Given the description of an element on the screen output the (x, y) to click on. 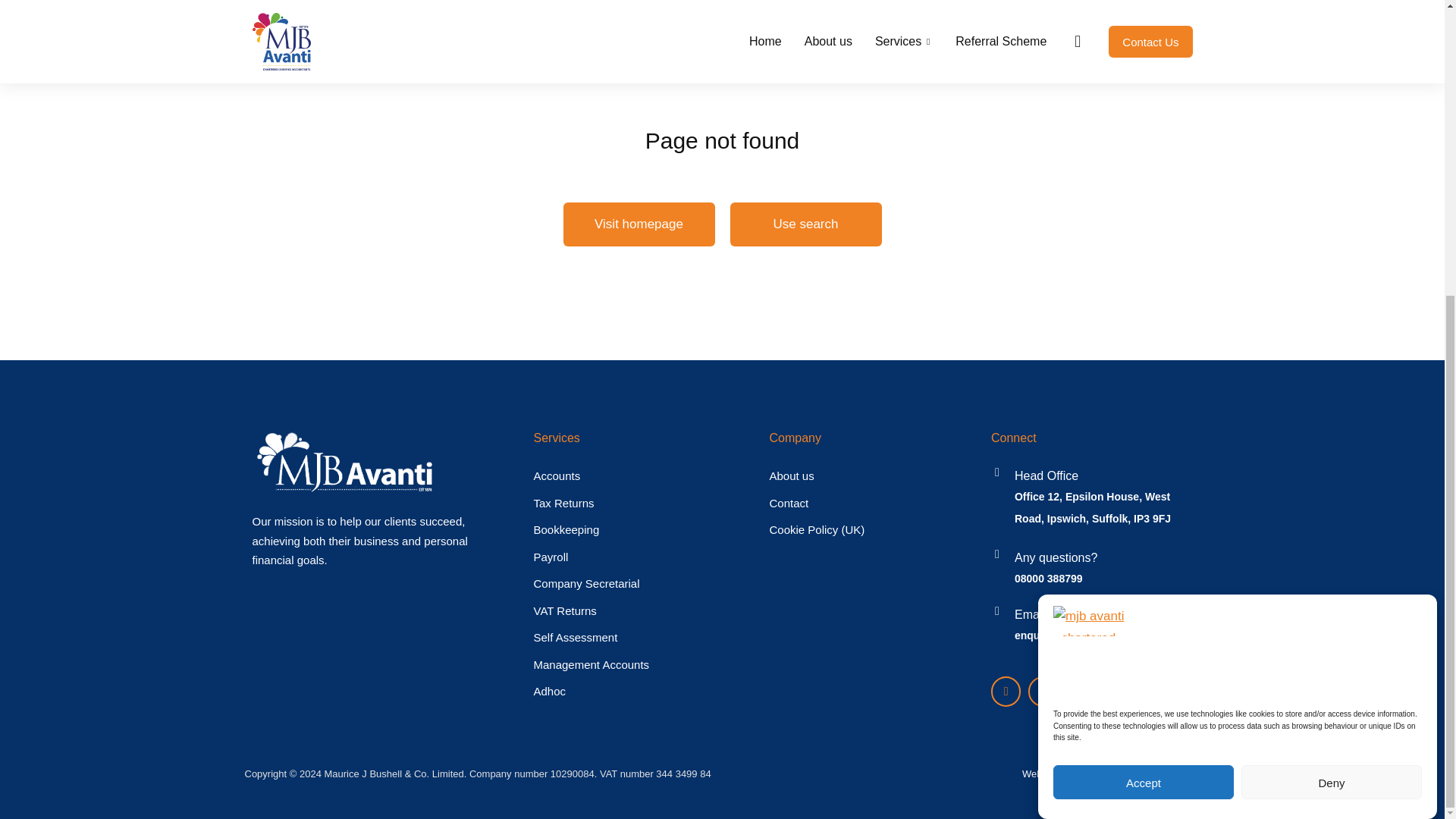
Accept (1142, 570)
